Given the description of an element on the screen output the (x, y) to click on. 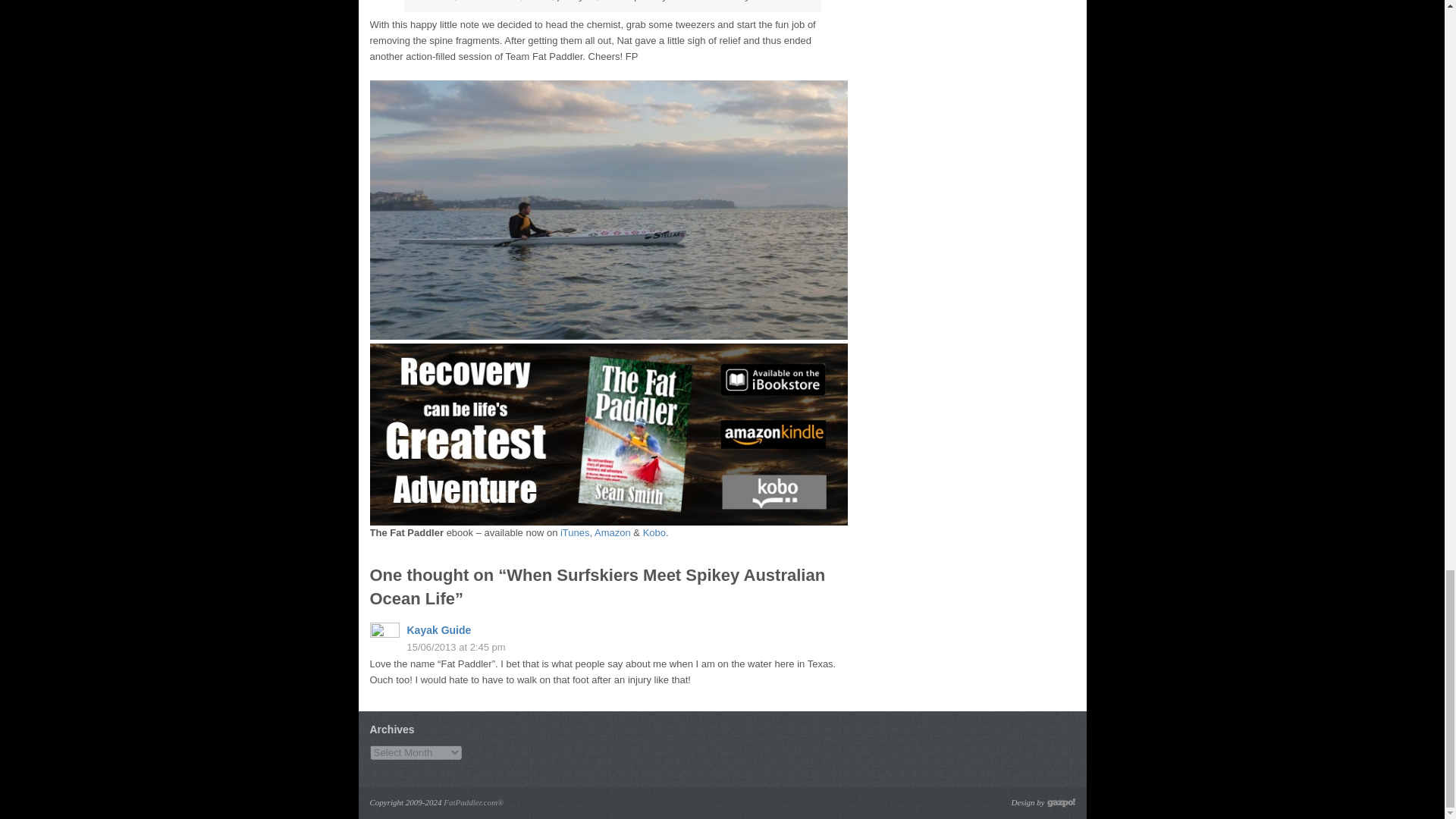
iTunes (574, 532)
Kobo (654, 532)
Kayak Guide (438, 630)
Amazon (612, 532)
